Given the description of an element on the screen output the (x, y) to click on. 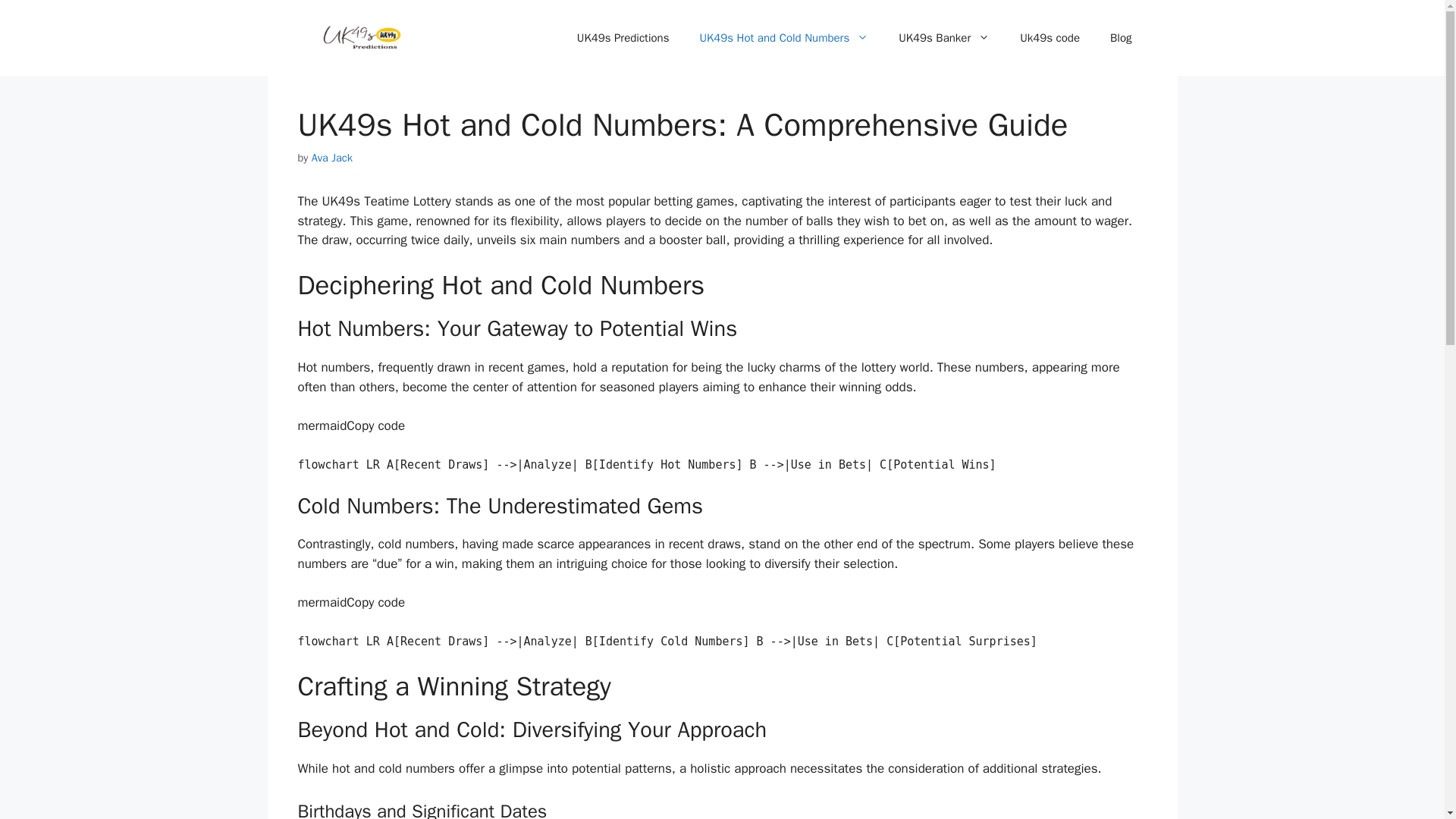
UK49s Banker (943, 37)
Ava Jack (331, 157)
Blog (1120, 37)
Uk49s code (1049, 37)
View all posts by Ava Jack (331, 157)
UK49s Hot and Cold Numbers (783, 37)
UK49s Predictions (623, 37)
